Given the description of an element on the screen output the (x, y) to click on. 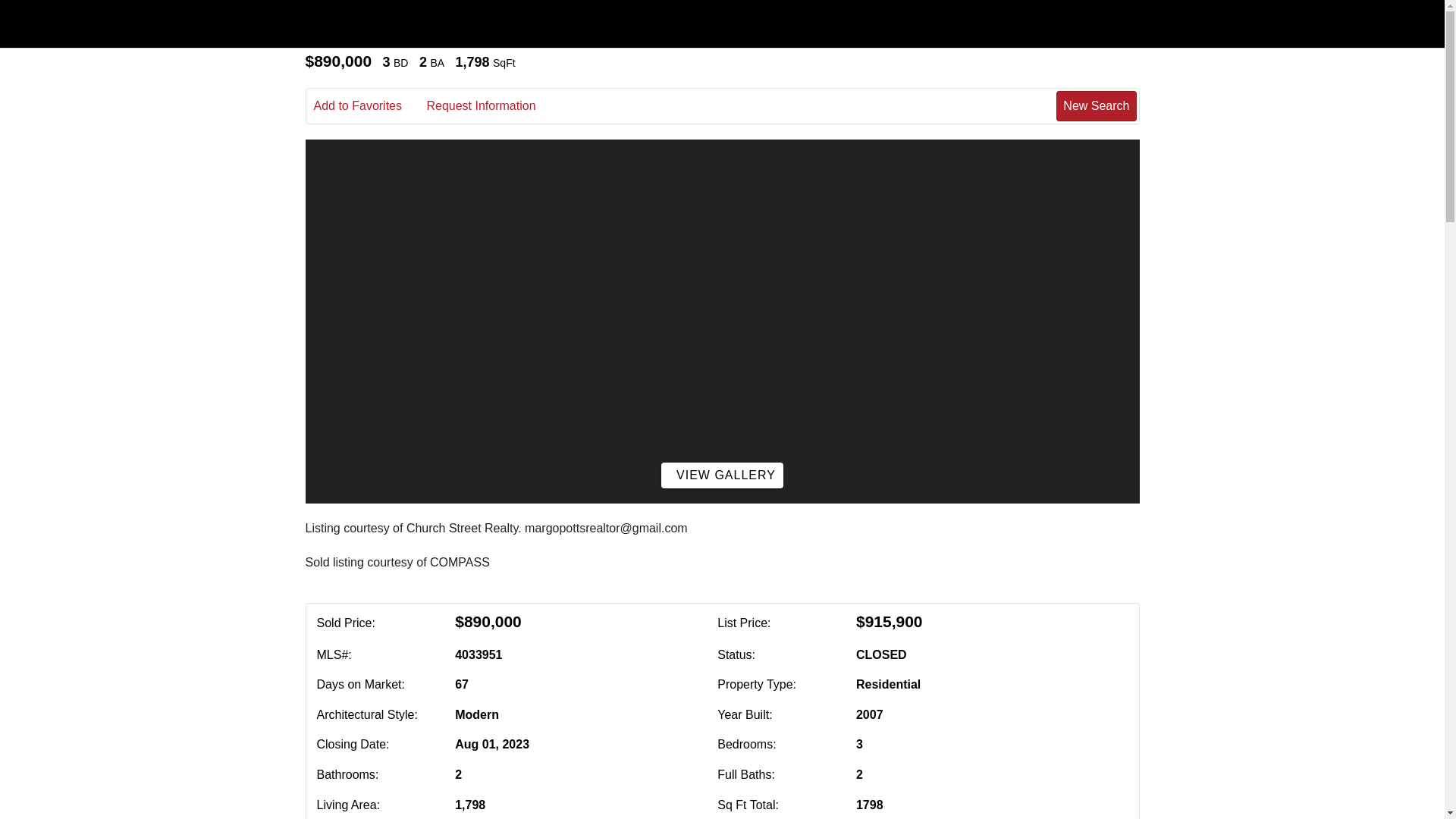
Request Information (491, 106)
VIEW GALLERY (722, 474)
Add to Favorites (368, 106)
VIEW GALLERY (722, 475)
New Search (1096, 105)
